Given the description of an element on the screen output the (x, y) to click on. 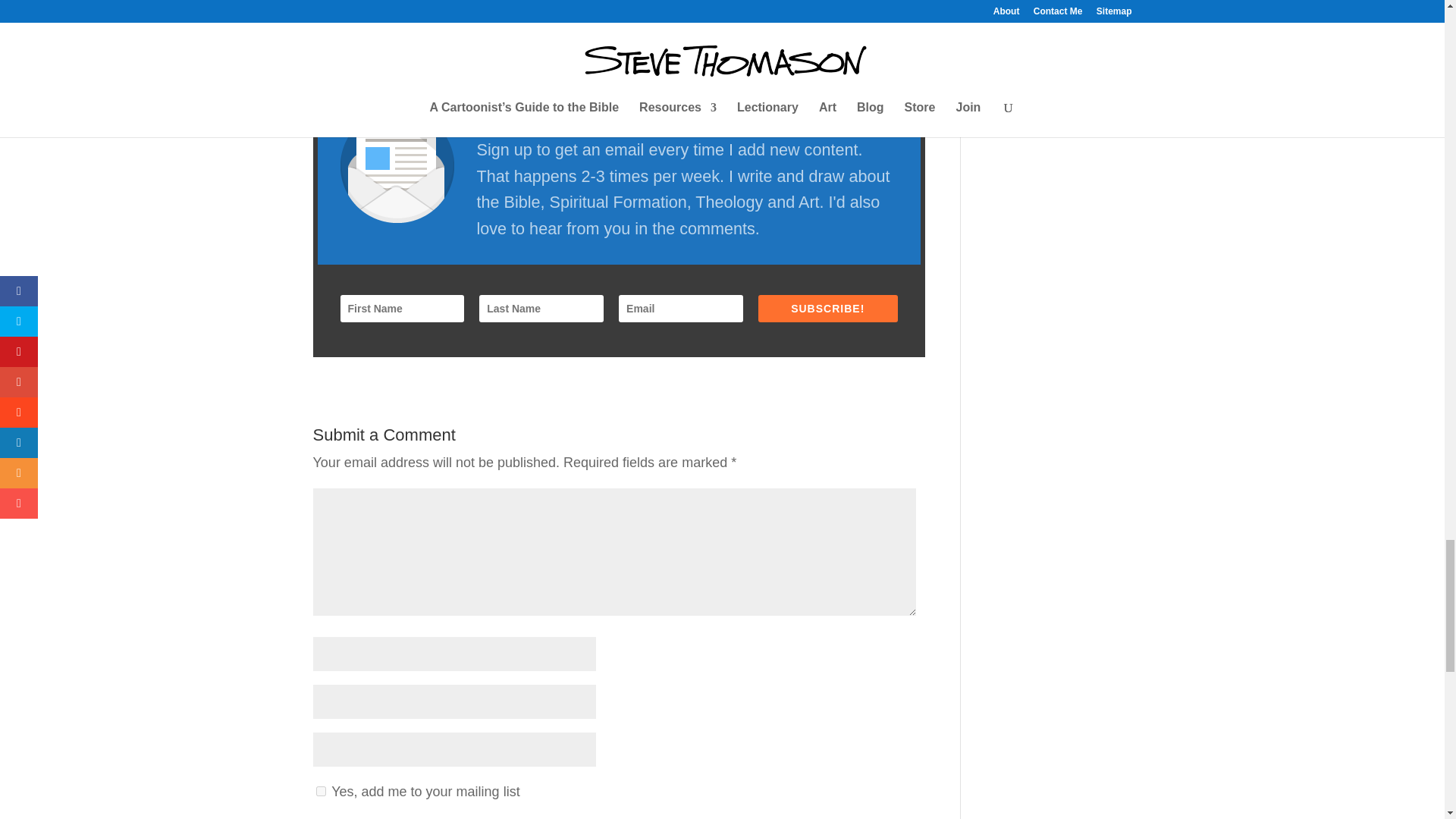
1 (319, 791)
